Given the description of an element on the screen output the (x, y) to click on. 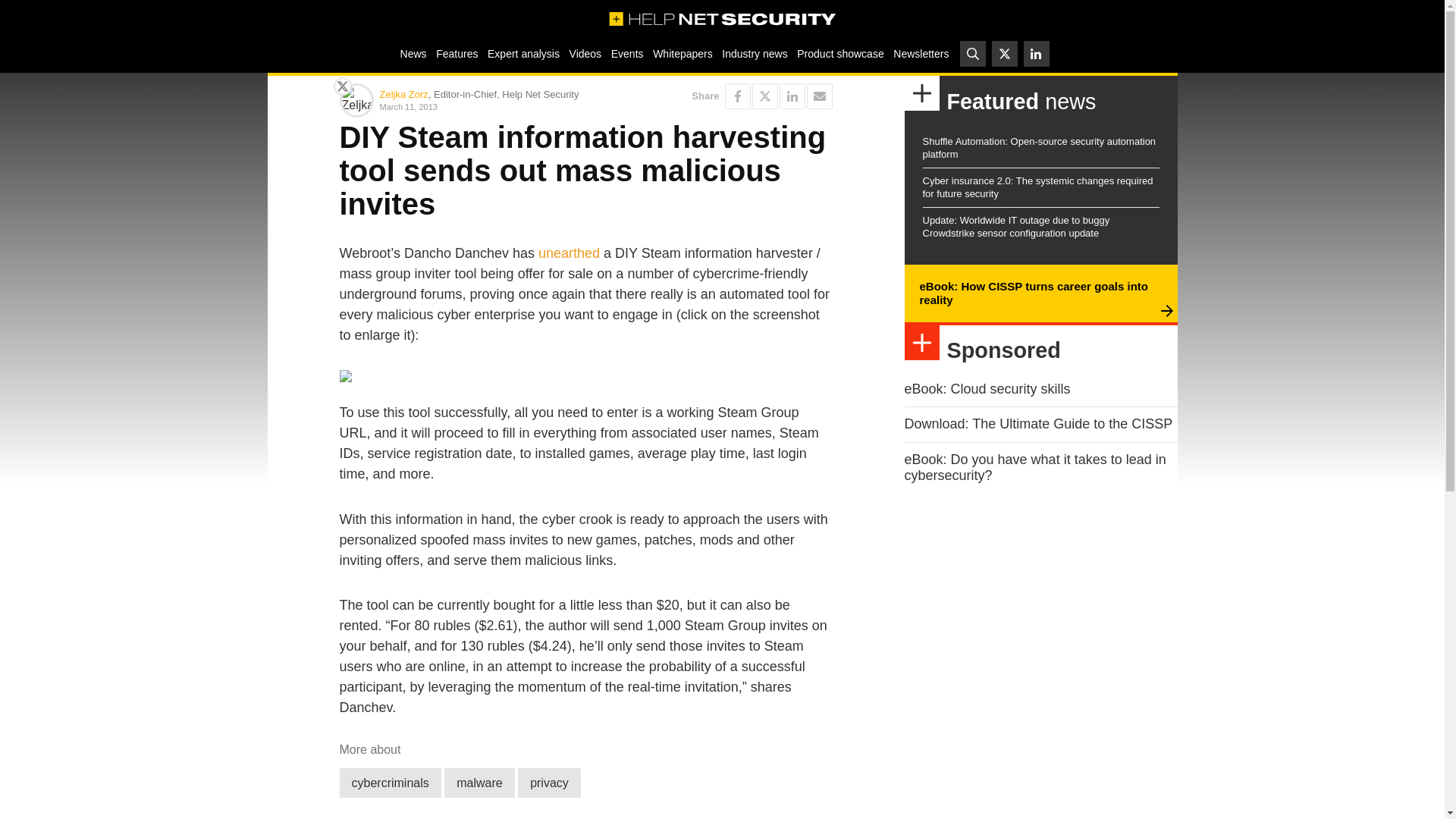
privacy (549, 782)
cybercriminals (390, 782)
Expert analysis (523, 53)
malware (478, 782)
Newsletters (920, 53)
Shuffle Automation: Open-source security automation platform (1038, 147)
Download: The Ultimate Guide to the CISSP (1038, 423)
eBook: Cloud security skills (987, 388)
Zeljka Zorz (403, 93)
Product showcase (840, 53)
